Given the description of an element on the screen output the (x, y) to click on. 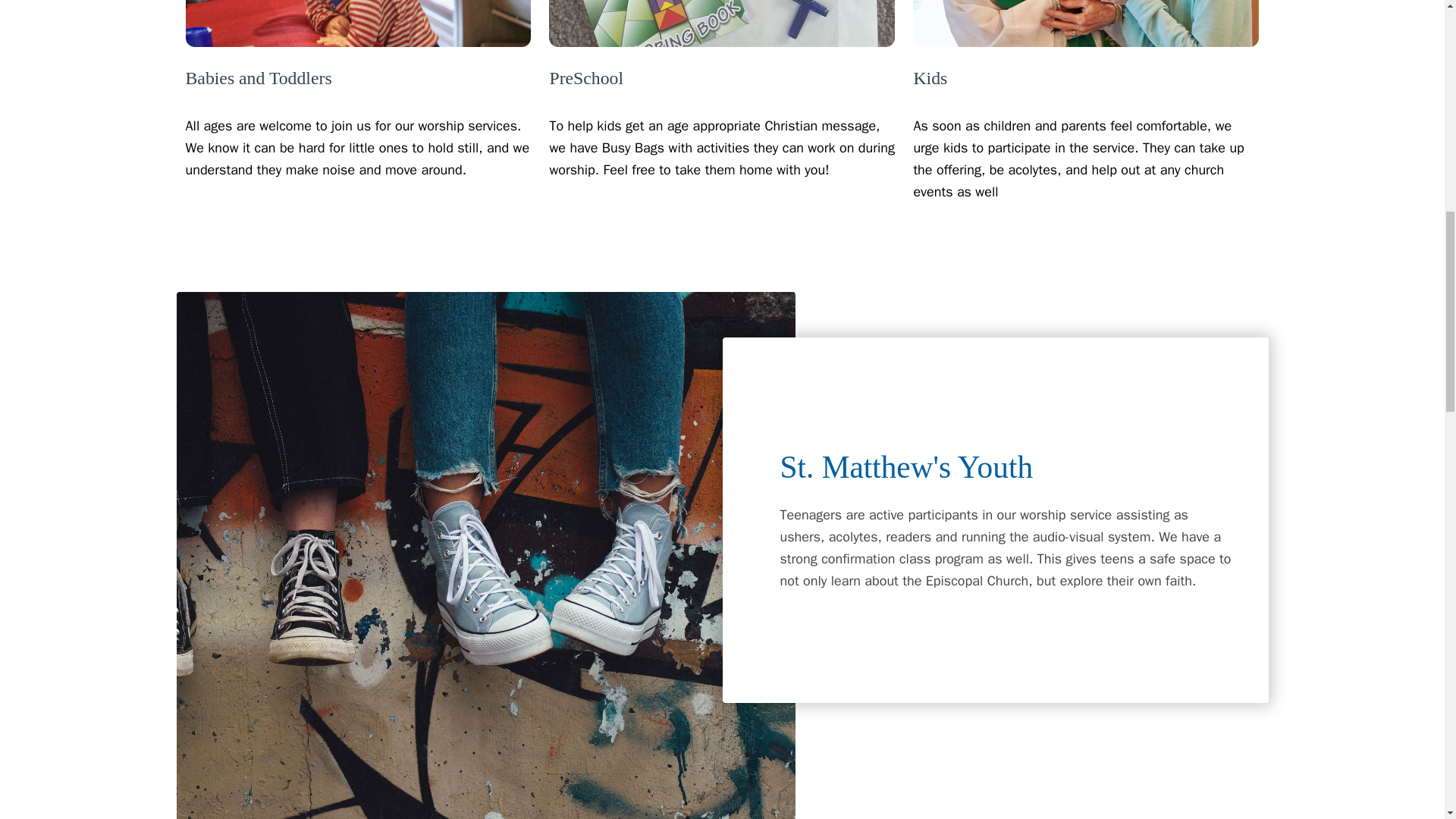
st-matthew-kids-featured-image (1085, 23)
st-matthew-preschool-featured-image (721, 23)
st-matthew-babies-featured-image (357, 23)
